Given the description of an element on the screen output the (x, y) to click on. 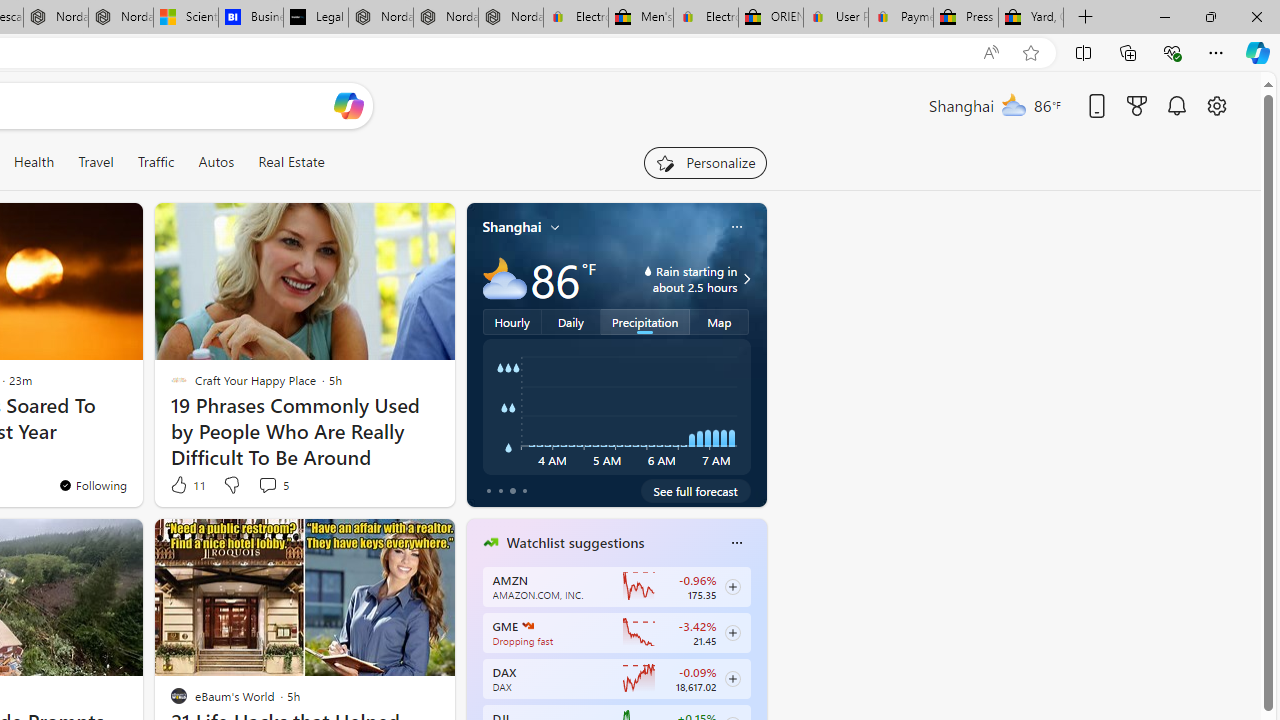
Daily (571, 321)
Electronics, Cars, Fashion, Collectibles & More | eBay (706, 17)
Travel (95, 161)
Class: weather-arrow-glyph (746, 278)
Health (33, 162)
Shanghai (511, 227)
11 Like (186, 484)
tab-2 (511, 490)
Real Estate (290, 162)
